Given the description of an element on the screen output the (x, y) to click on. 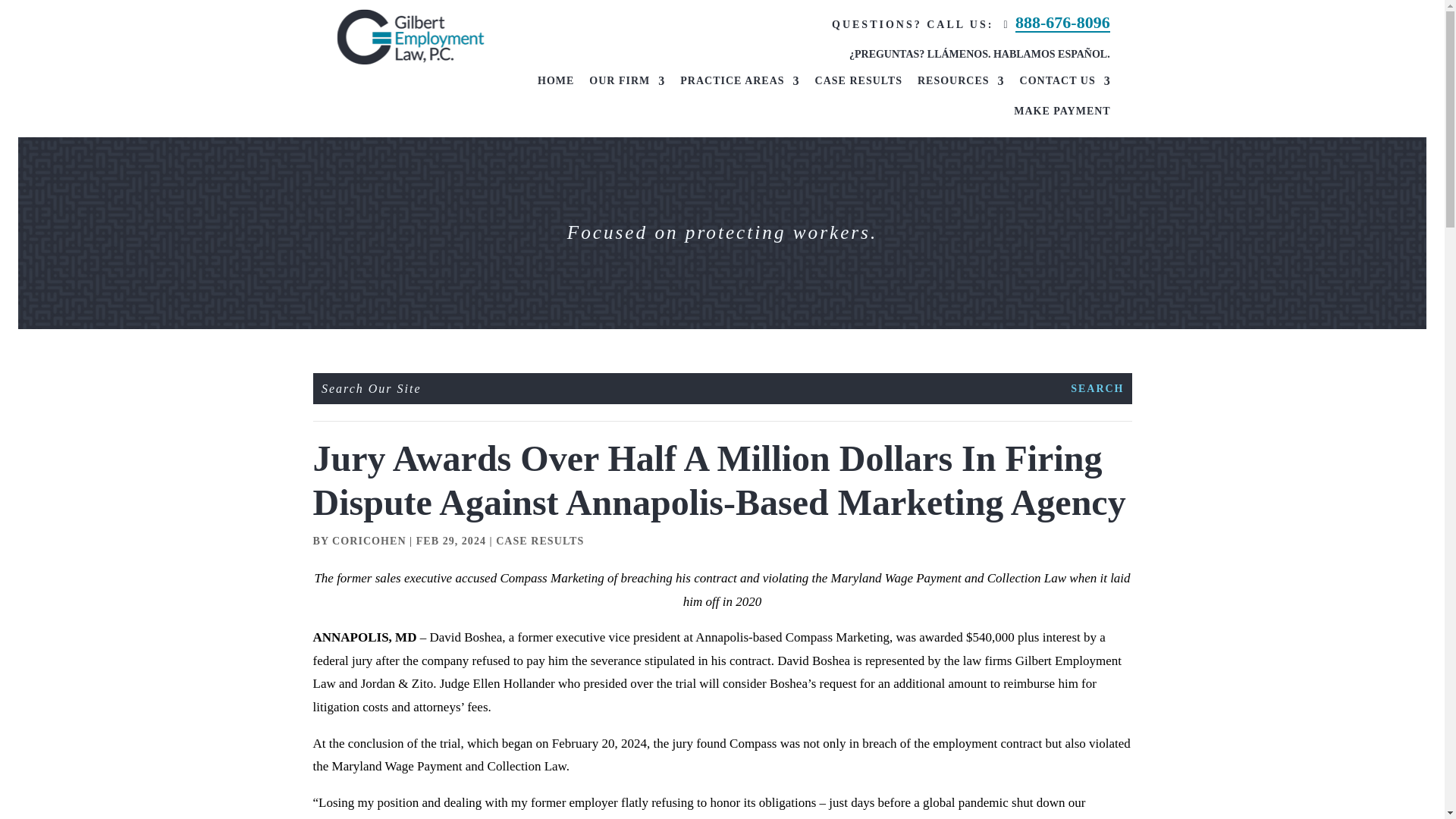
Posts by coricohen (368, 540)
HOME (555, 84)
Search (1096, 388)
CONTACT US (1065, 84)
Search (1096, 388)
888-676-8096 (1061, 22)
OUR FIRM (627, 84)
PRACTICE AREAS (739, 84)
RESOURCES (960, 84)
CASE RESULTS (858, 84)
